Given the description of an element on the screen output the (x, y) to click on. 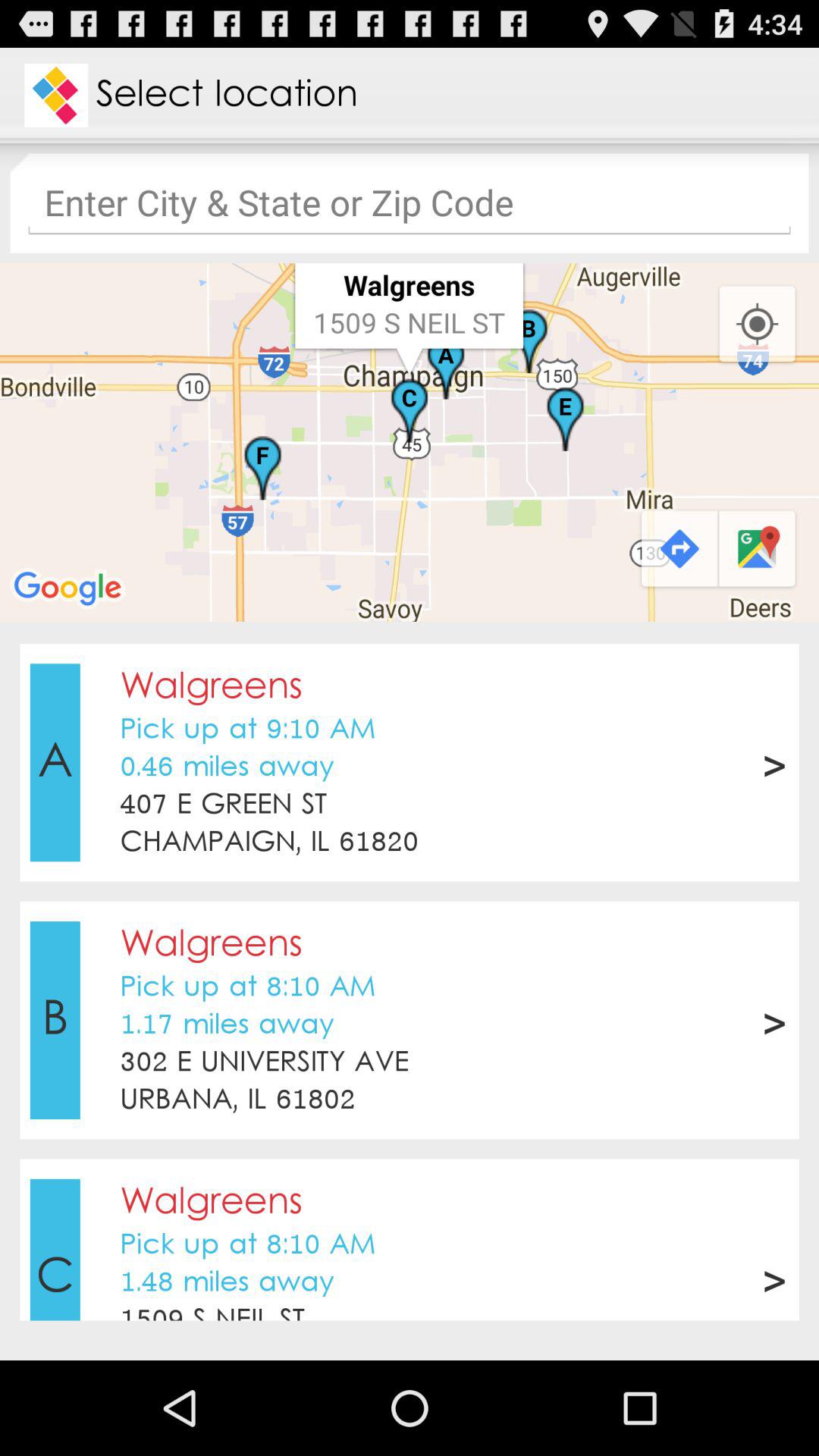
swipe until b (54, 1020)
